Given the description of an element on the screen output the (x, y) to click on. 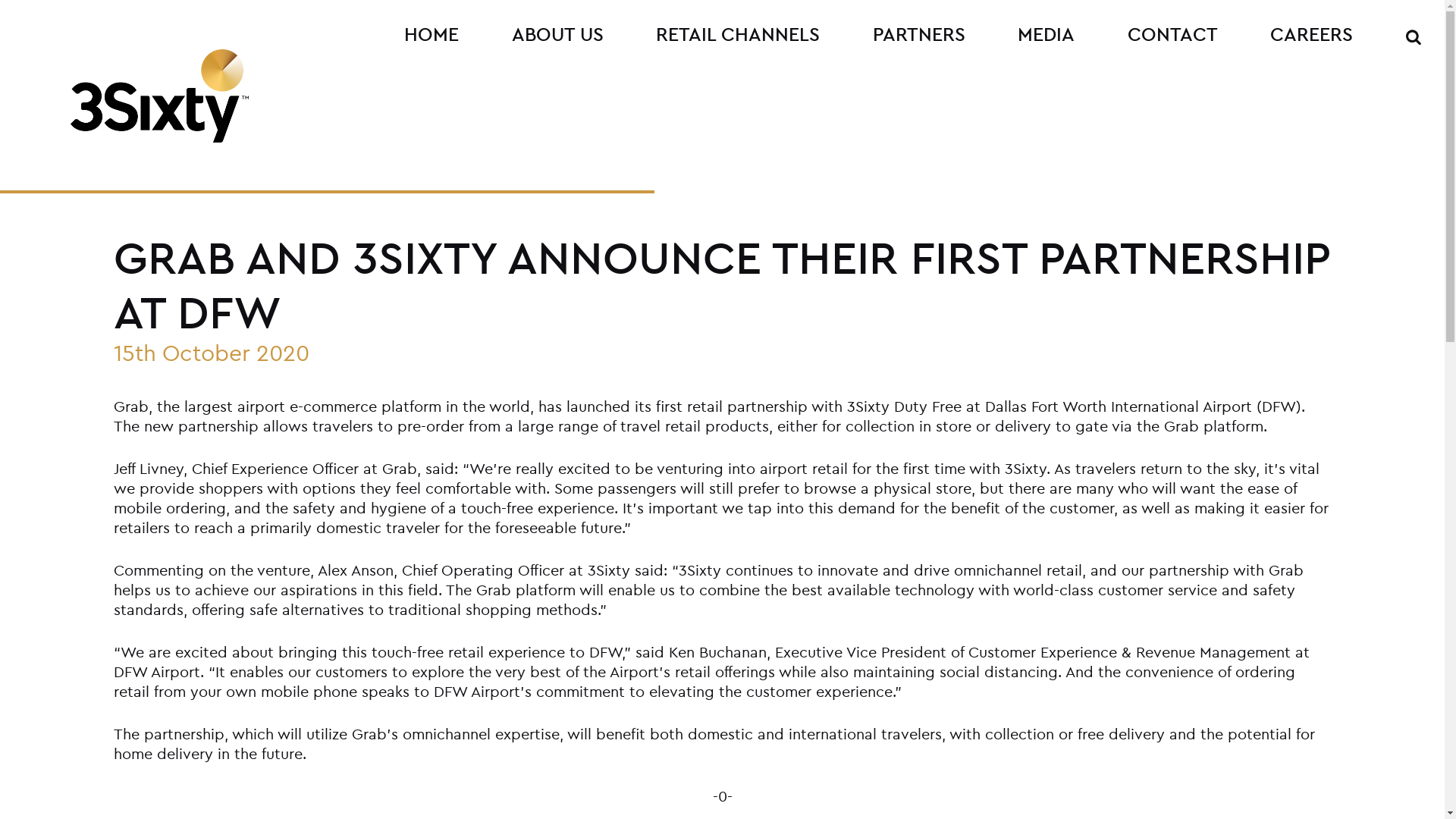
HOME Element type: text (431, 34)
PARTNERS Element type: text (919, 34)
CONTACT Element type: text (1173, 34)
15th October 2020 Element type: text (211, 352)
CAREERS Element type: text (1311, 34)
MEDIA Element type: text (1046, 34)
ABOUT US Element type: text (557, 34)
RETAIL CHANNELS Element type: text (738, 34)
